Given the description of an element on the screen output the (x, y) to click on. 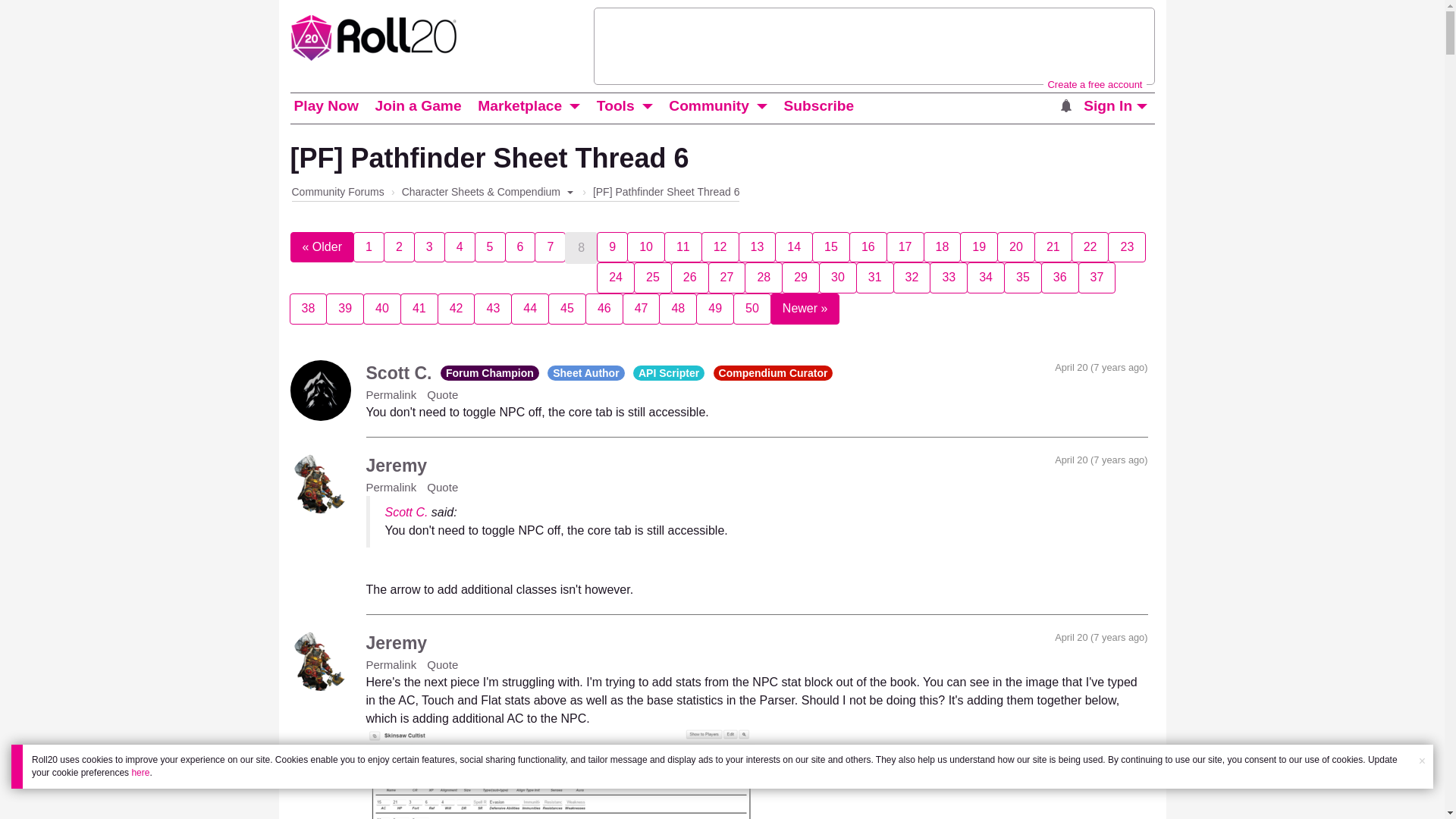
Create a free account (1093, 84)
Marketplace (520, 106)
here (140, 772)
Tools (615, 106)
Play Now (325, 106)
Join a Game (417, 106)
